Given the description of an element on the screen output the (x, y) to click on. 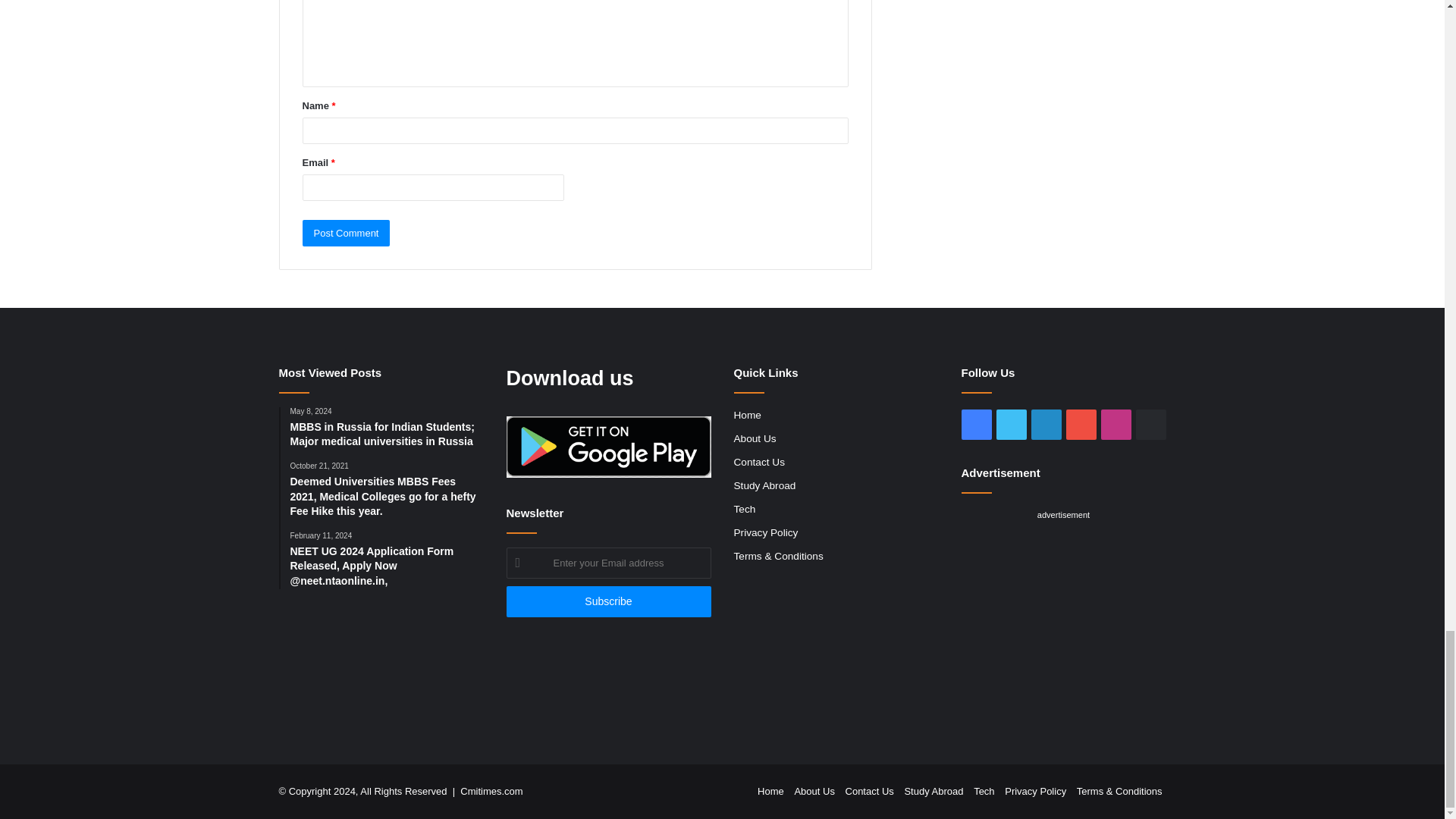
Post Comment (345, 233)
Subscribe (608, 601)
